Given the description of an element on the screen output the (x, y) to click on. 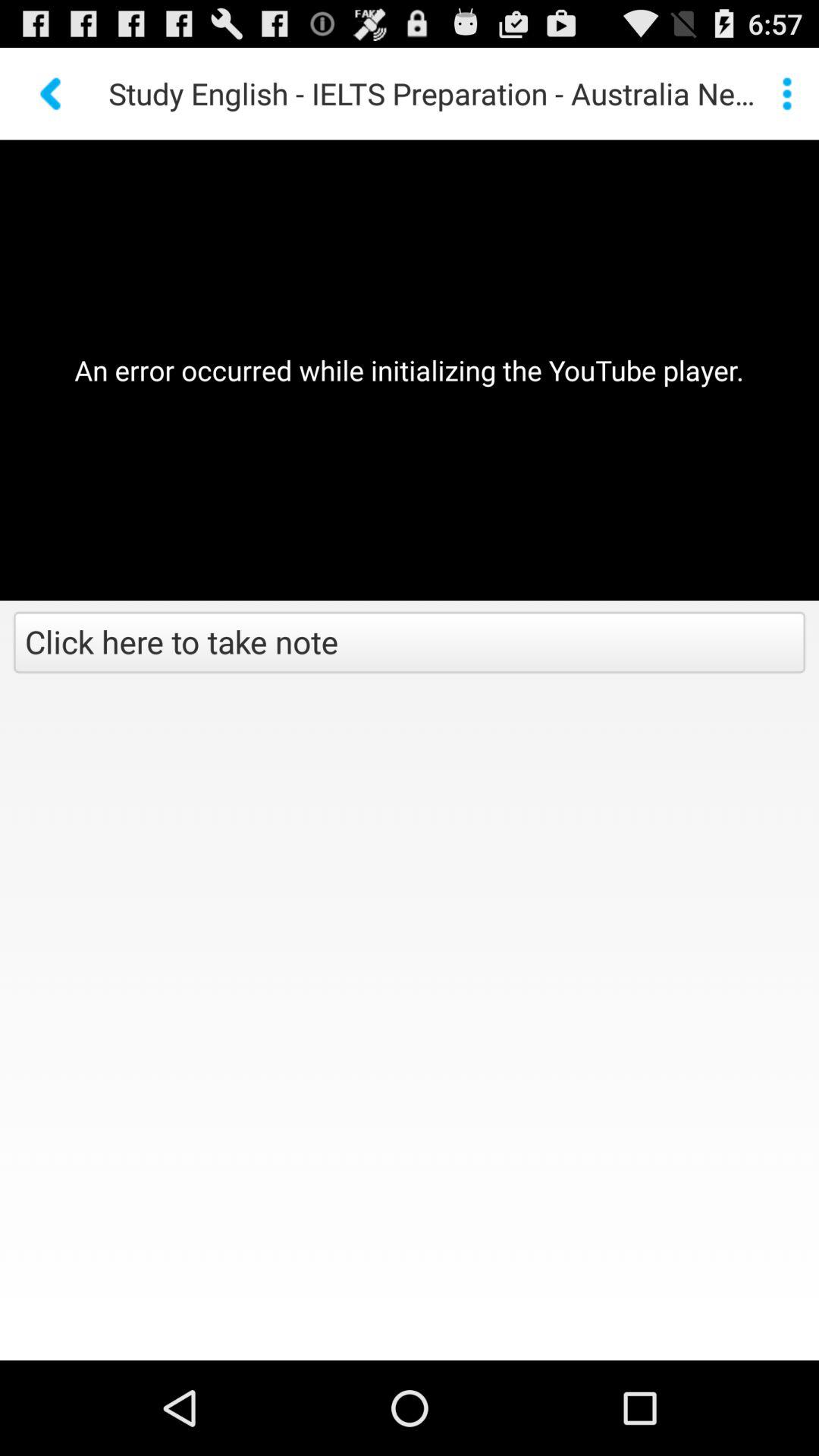
press click here to app (409, 643)
